Given the description of an element on the screen output the (x, y) to click on. 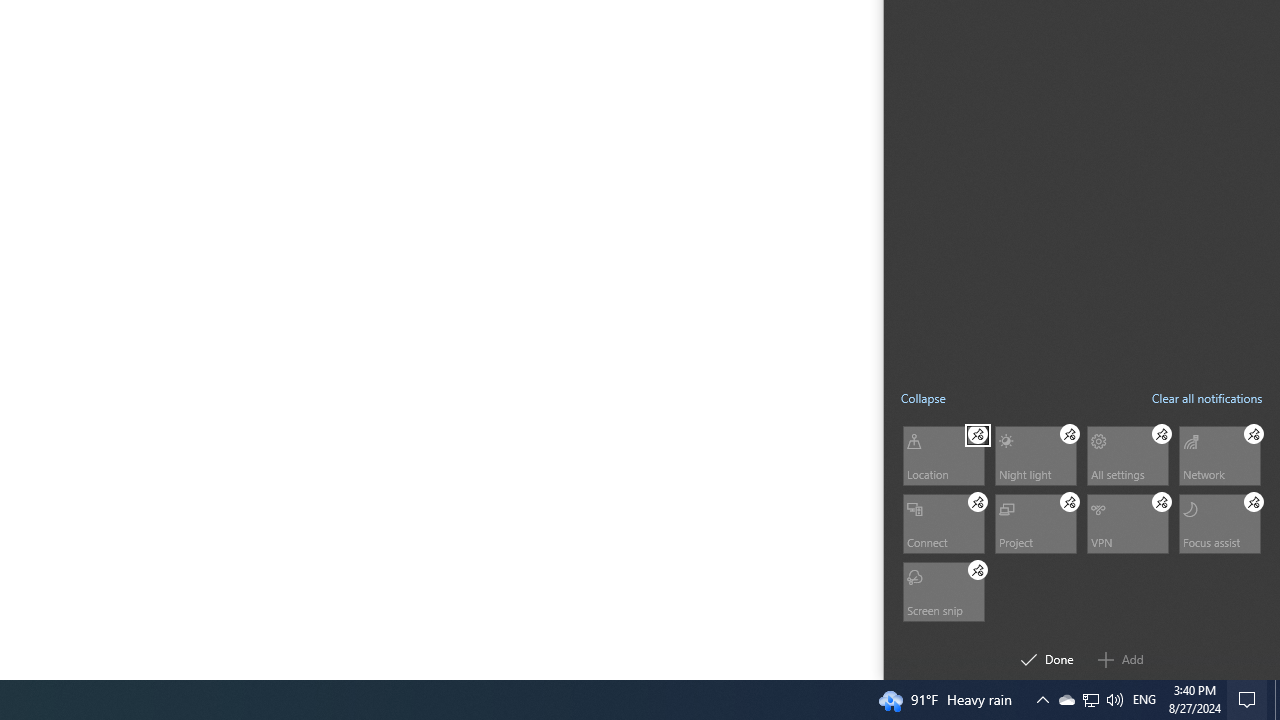
Project Unpin (1069, 501)
Connect Unpin (977, 501)
